Given the description of an element on the screen output the (x, y) to click on. 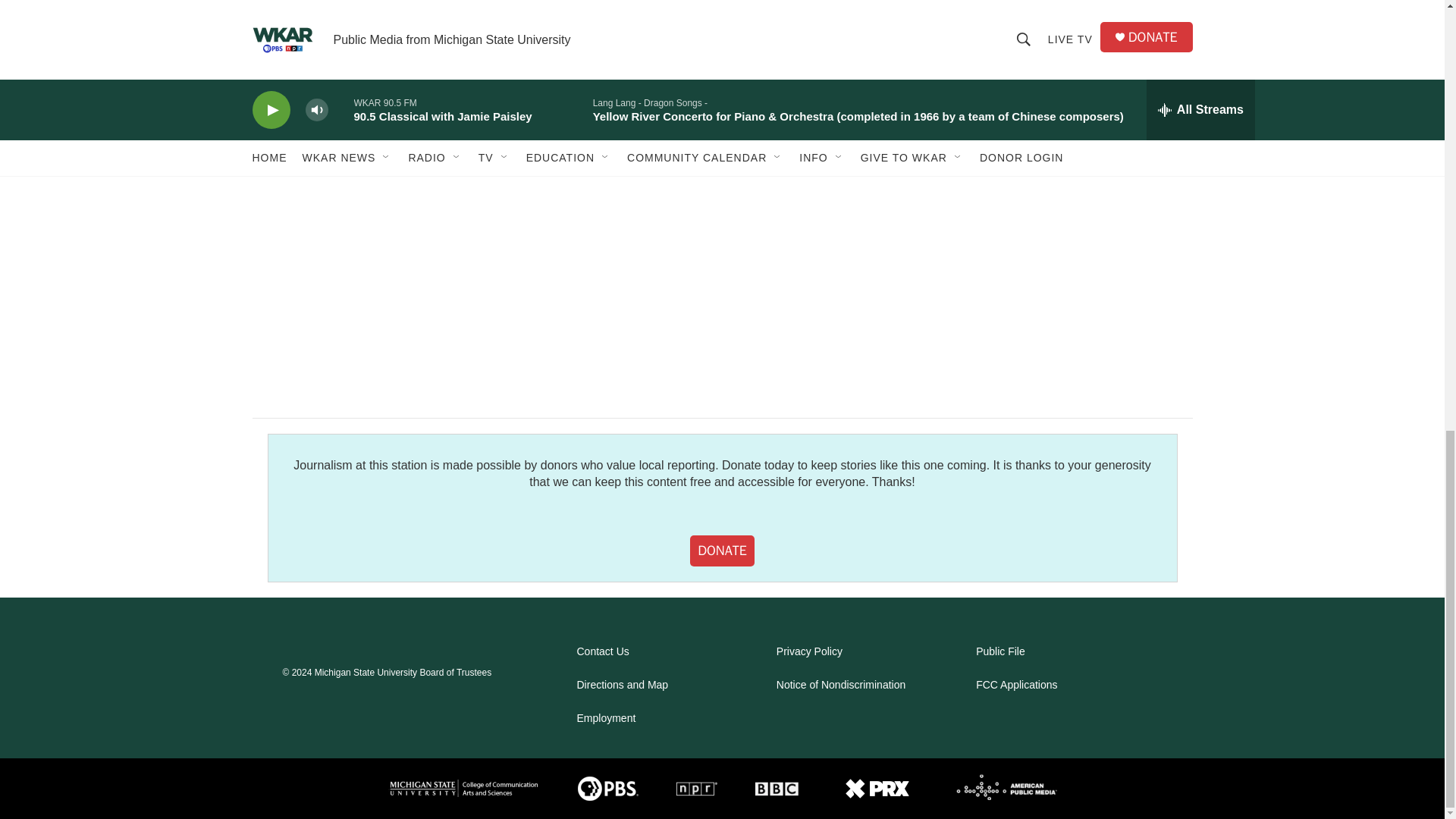
3rd party ad content (1062, 262)
3rd party ad content (1062, 54)
